Given the description of an element on the screen output the (x, y) to click on. 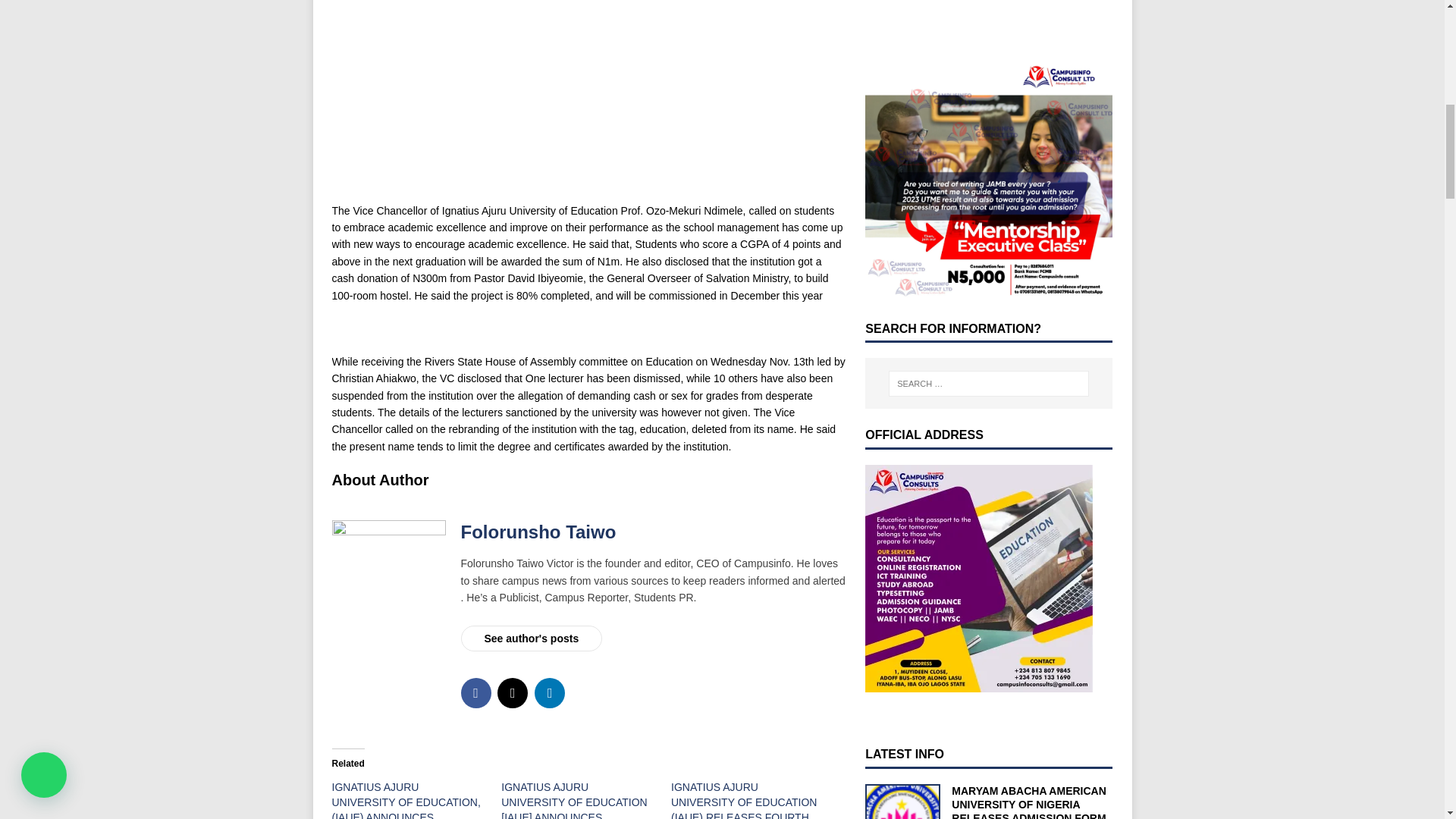
Advertisement (588, 101)
Advertisement (978, 15)
Folorunsho Taiwo (538, 531)
See author's posts (531, 638)
